Given the description of an element on the screen output the (x, y) to click on. 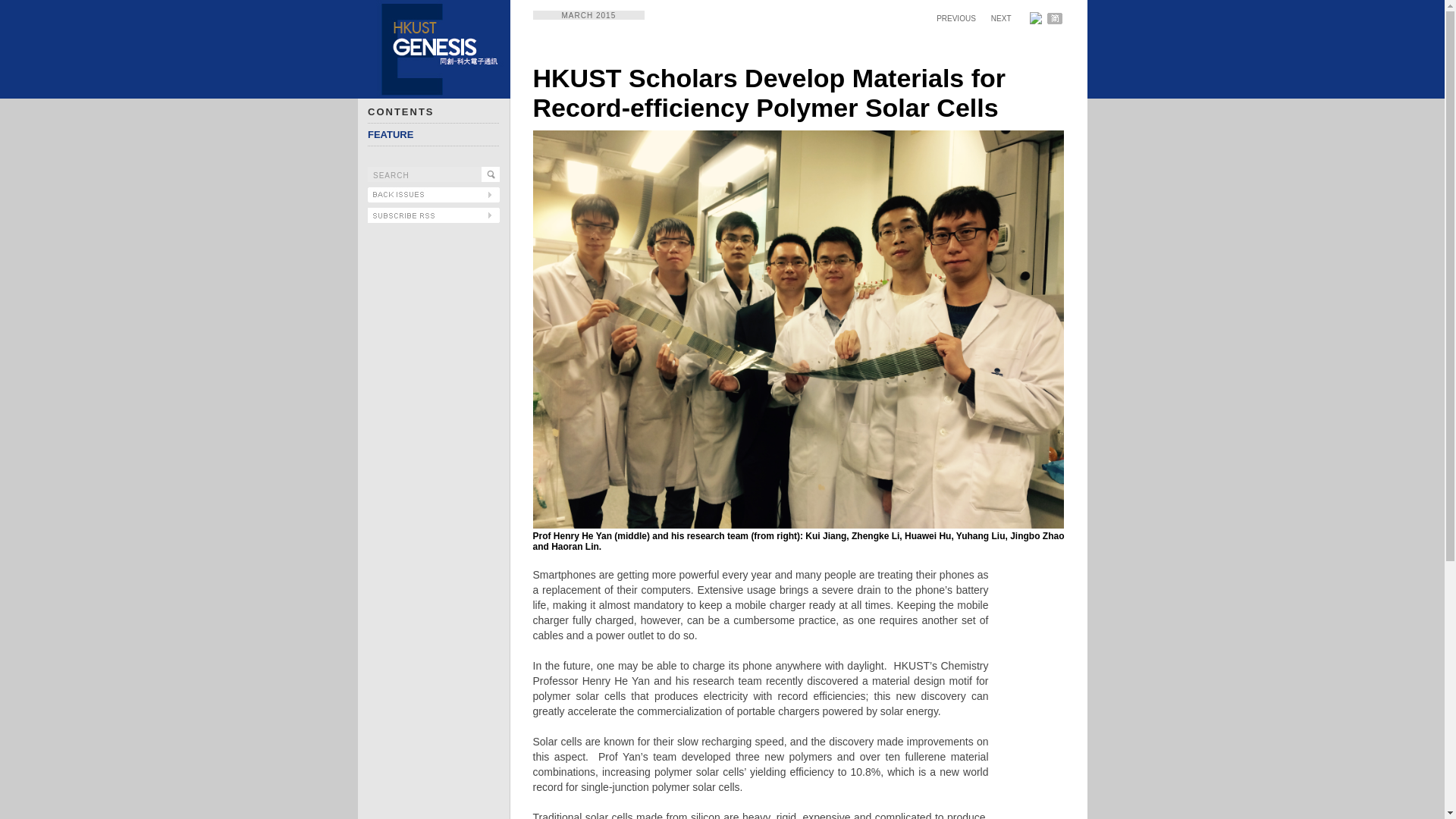
SEARCH (424, 174)
CONTENTS (400, 111)
NEXT (1001, 17)
PREVIOUS (955, 17)
FEATURE (390, 134)
